Given the description of an element on the screen output the (x, y) to click on. 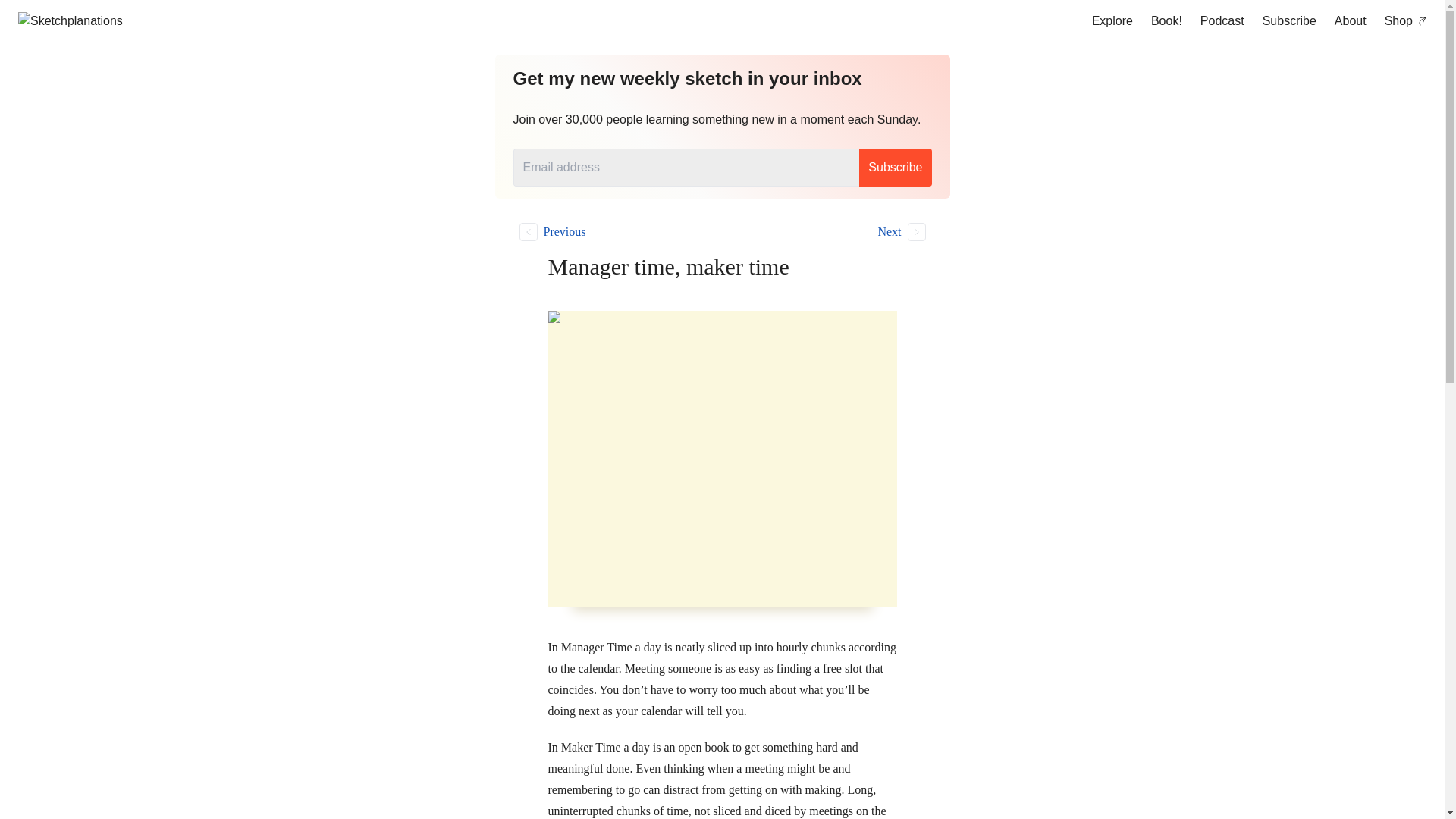
Subscribe (895, 167)
Shop (1405, 21)
Explore (1112, 21)
Subscribe (1288, 21)
Podcast (1222, 21)
Nurse log (602, 231)
Next (841, 231)
Previous (602, 231)
Book! (1166, 21)
About (1349, 21)
